Given the description of an element on the screen output the (x, y) to click on. 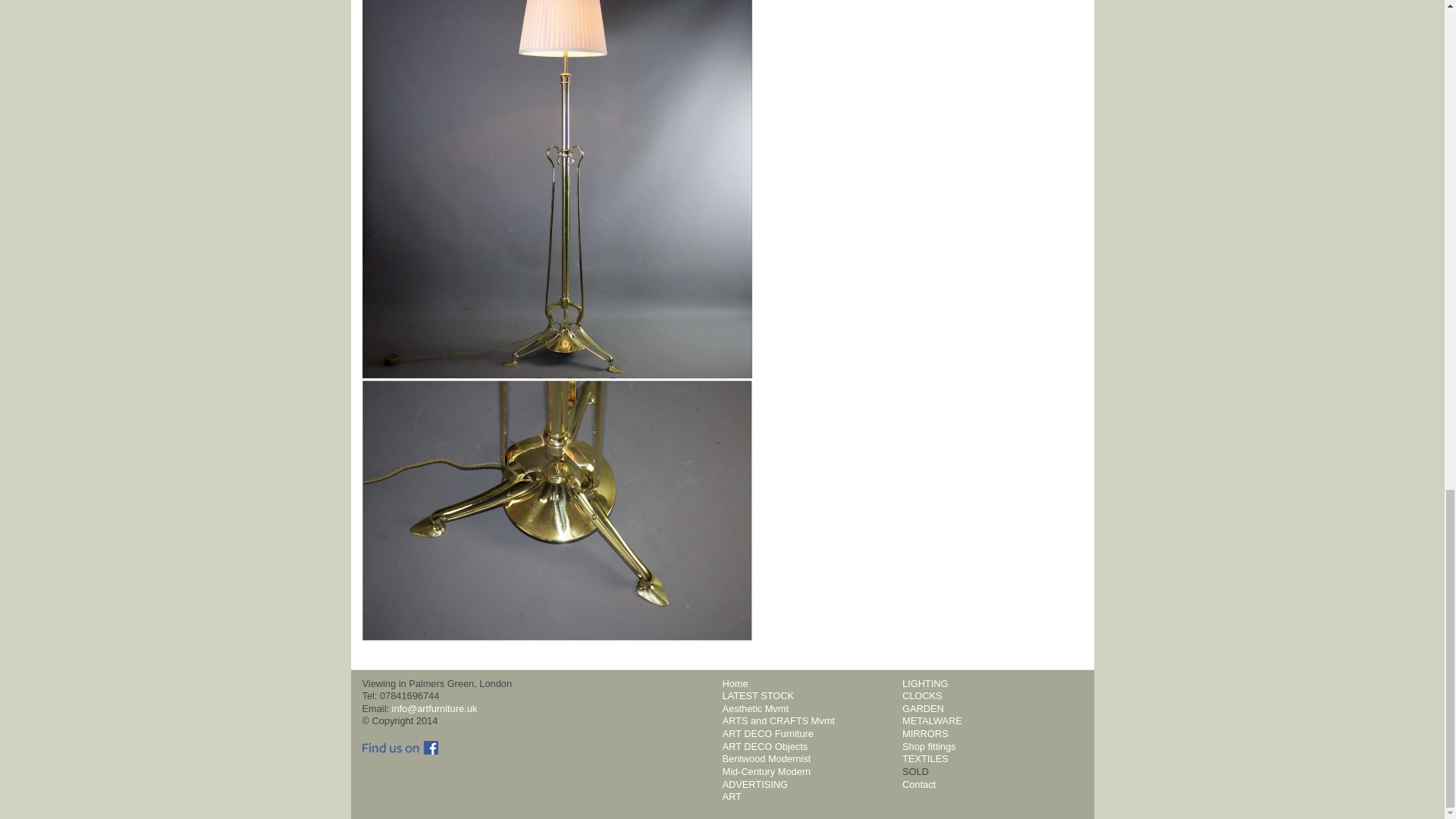
ARTS and CRAFTS Mvmt (778, 720)
LIGHTING (924, 683)
Mid-Century Modern (766, 771)
ART (731, 796)
ART DECO Objects (765, 746)
LATEST STOCK (757, 695)
Bentwood Modernist (766, 758)
Home (735, 683)
METALWARE (932, 720)
CLOCKS (922, 695)
GARDEN (922, 708)
ADVERTISING (754, 784)
Aesthetic Mvmt (754, 708)
ART DECO Furniture (767, 733)
